Given the description of an element on the screen output the (x, y) to click on. 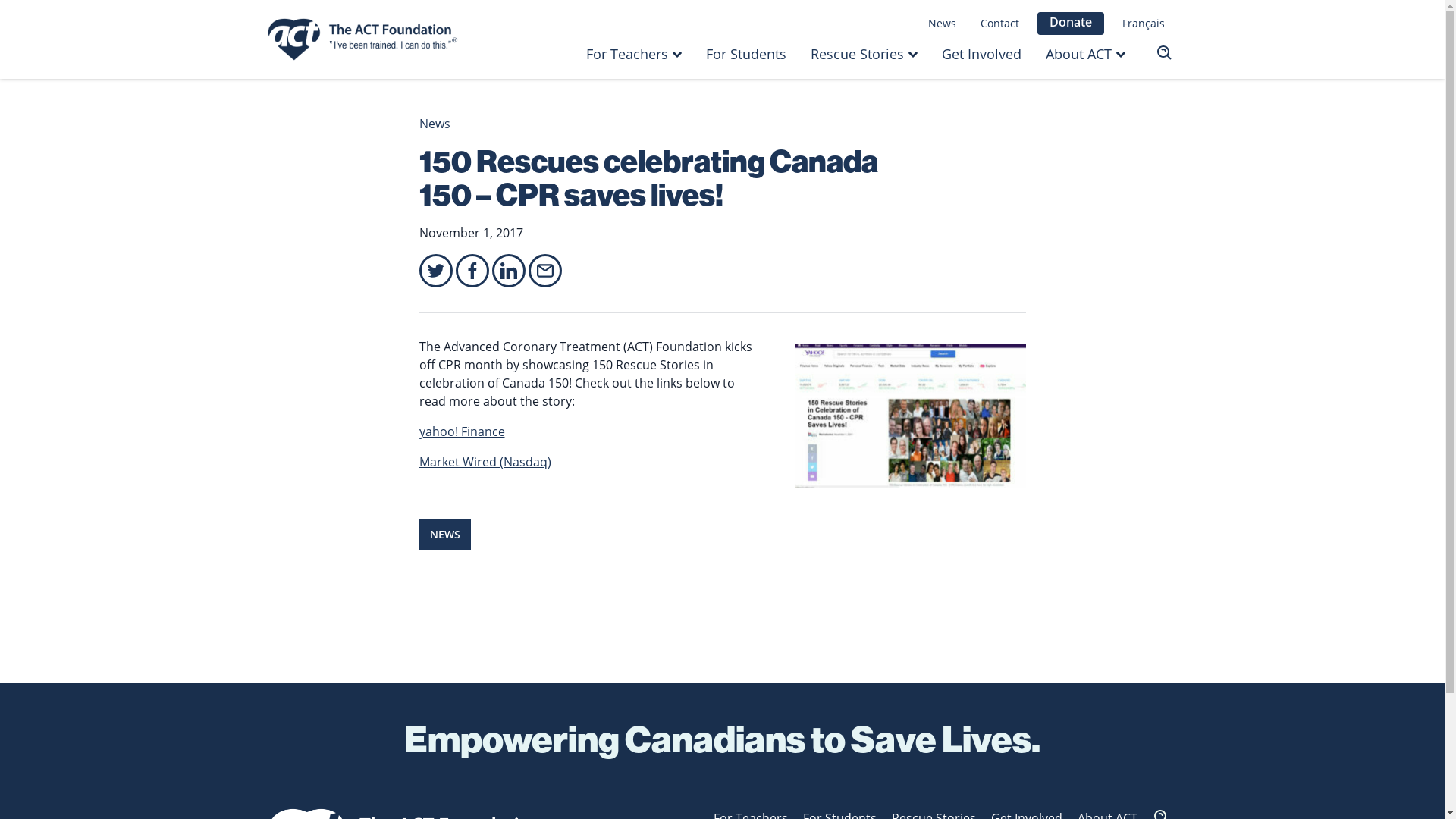
Get Involved Element type: text (981, 53)
Rescue Stories Element type: text (857, 53)
Donate Element type: text (1070, 23)
yahoo! Finance Element type: text (461, 431)
Contact Element type: text (999, 23)
Skip to main content Element type: text (0, 0)
News Element type: text (433, 123)
News Element type: text (942, 23)
About ACT Element type: text (1078, 53)
Search Element type: text (1156, 53)
Homepage - The ACT Foundation Element type: hover (365, 39)
For Teachers Element type: text (627, 53)
NEWS Element type: text (444, 534)
For Students Element type: text (745, 53)
Market Wired (Nasdaq) Element type: text (484, 461)
